Given the description of an element on the screen output the (x, y) to click on. 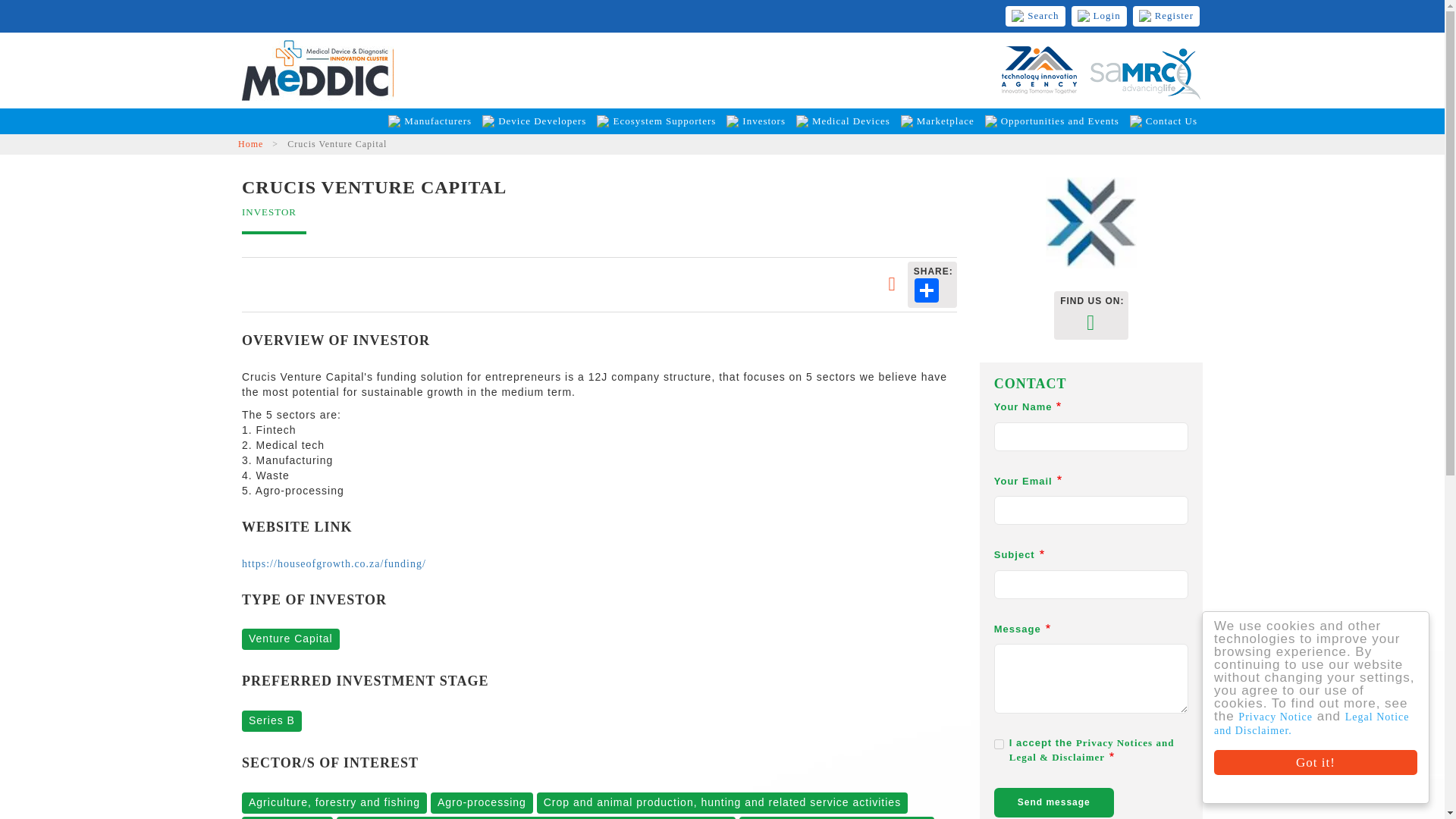
Register (1165, 15)
Marketplace (937, 121)
South African Medical Research Council (1144, 70)
Got it! (1329, 762)
Manufacturers (429, 121)
Ecosystem Supporters (655, 121)
Device Developers (534, 121)
Medical Devices (842, 121)
Technology Innovation Agency (1039, 69)
Privacy Notice (1287, 716)
Investors (755, 121)
Legal Notice and Disclaimer. (1323, 723)
Search (1035, 15)
Login (1098, 15)
